Given the description of an element on the screen output the (x, y) to click on. 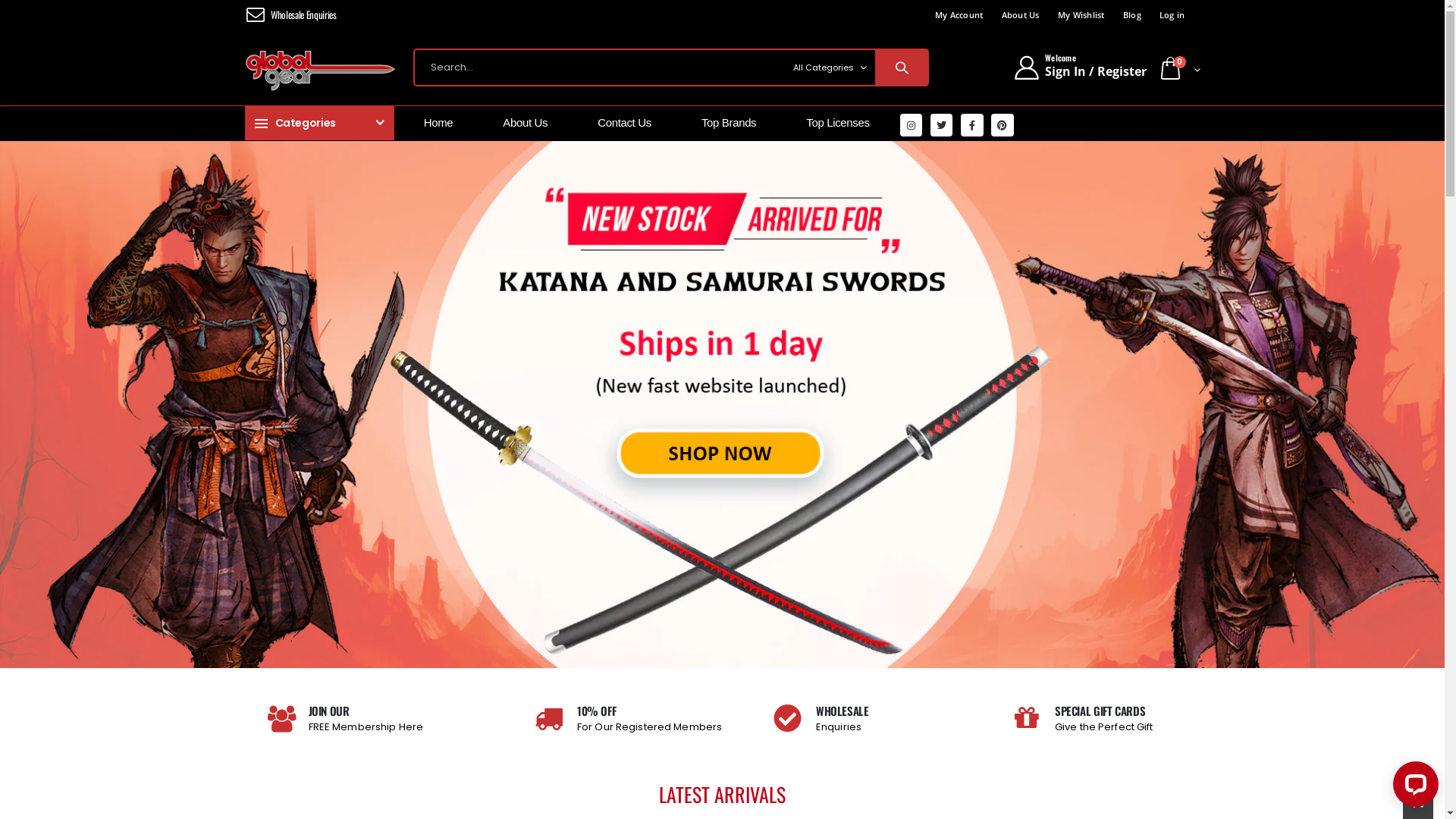
Blog Element type: text (1132, 13)
Home Element type: text (443, 122)
About Us Element type: text (530, 122)
10% OFF Element type: text (649, 710)
SPECIAL GIFT CARDS Element type: text (1103, 710)
Welcome
Sign In / Register Element type: text (1079, 66)
Search Element type: text (901, 67)
All Categories Element type: text (828, 67)
My Wishlist Element type: text (1080, 13)
Wholesale Enquiries Element type: text (301, 14)
Contact Us Element type: text (628, 122)
Categories Element type: text (318, 123)
My Account Element type: text (959, 13)
About Us Element type: text (1019, 13)
Top Licenses Element type: text (842, 122)
0 Element type: text (1177, 69)
Top Brands Element type: text (733, 122)
Log in Element type: text (1172, 13)
WHOLESALE Element type: text (842, 710)
